Given the description of an element on the screen output the (x, y) to click on. 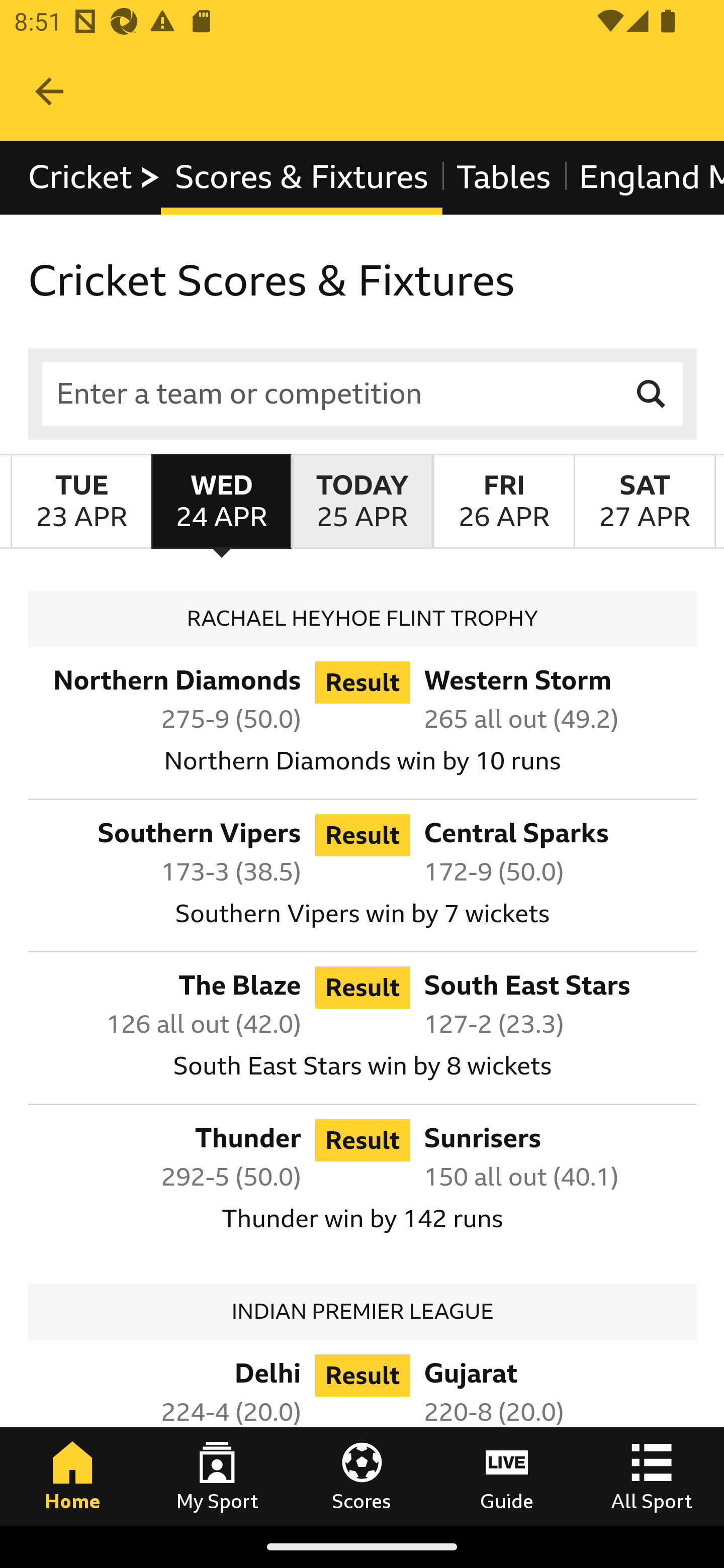
Navigate up (49, 91)
Cricket  (95, 177)
Scores & Fixtures (301, 177)
Tables (503, 177)
England Men (643, 177)
Search (651, 393)
TuesdayApril 23rd Tuesday April 23rd (81, 500)
TodayApril 25th Today April 25th (361, 500)
FridayApril 26th Friday April 26th (502, 500)
SaturdayApril 27th Saturday April 27th (644, 500)
My Sport (216, 1475)
Scores (361, 1475)
Guide (506, 1475)
All Sport (651, 1475)
